Given the description of an element on the screen output the (x, y) to click on. 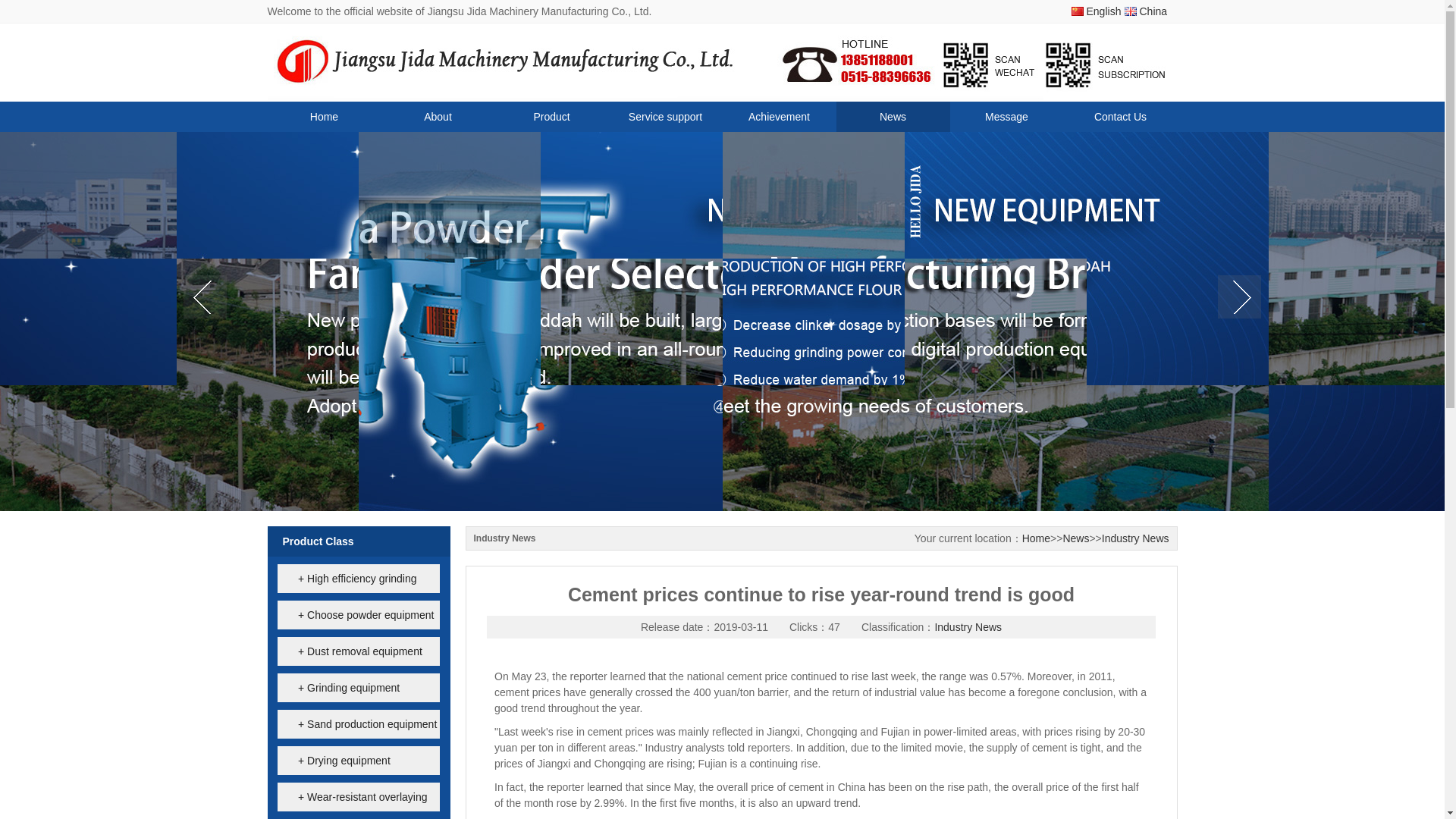
Contact Us (1119, 116)
Achievement (778, 116)
Message (1005, 116)
next (1238, 298)
News (892, 116)
English (1097, 11)
prev (205, 298)
China (1150, 11)
Product (551, 116)
About (437, 116)
Service support (665, 116)
Home (323, 116)
